Given the description of an element on the screen output the (x, y) to click on. 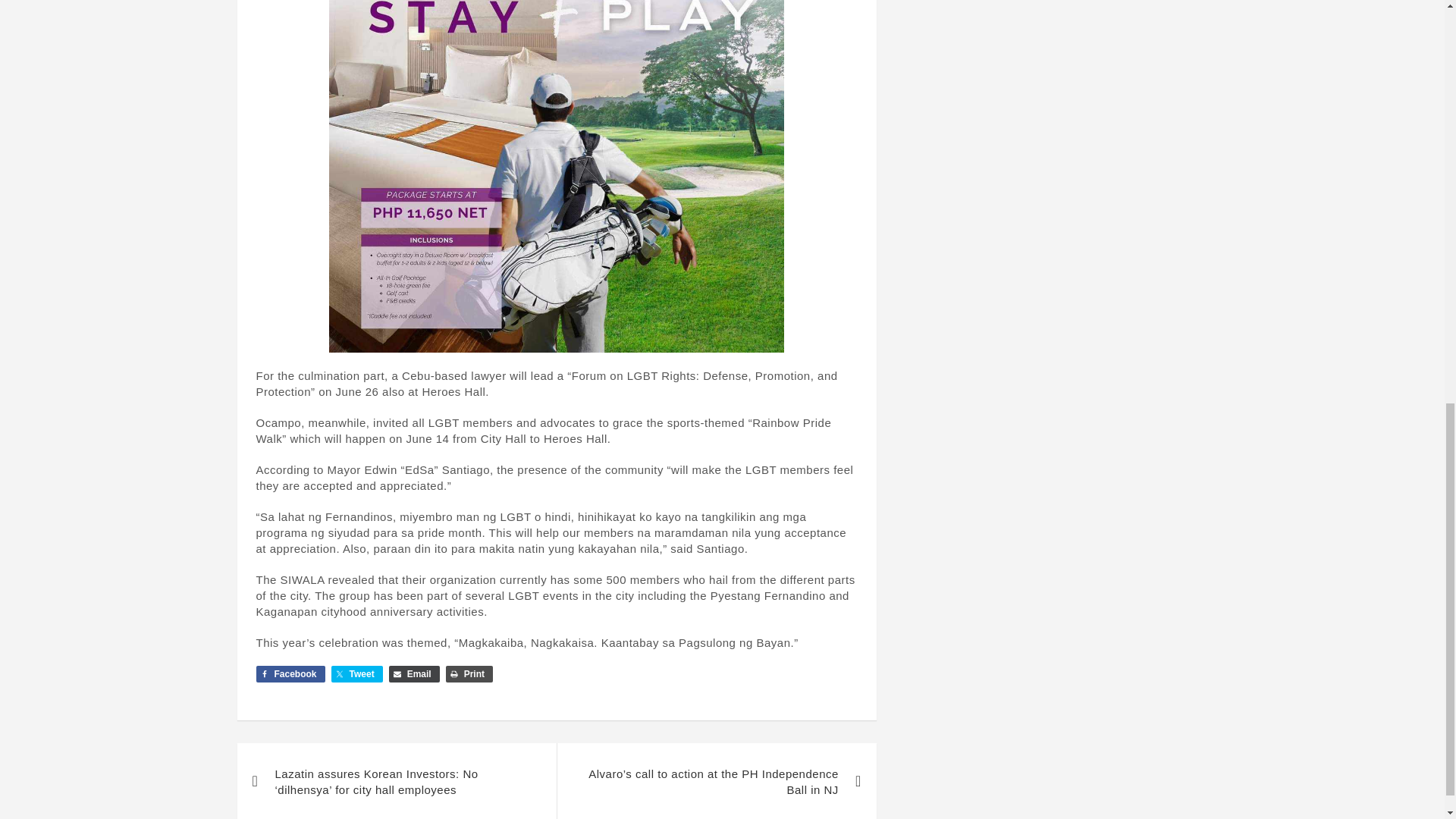
Share on Twitter (356, 673)
Share on Facebook (290, 673)
Print this Page (469, 673)
Email (413, 673)
Share via Email (413, 673)
